Given the description of an element on the screen output the (x, y) to click on. 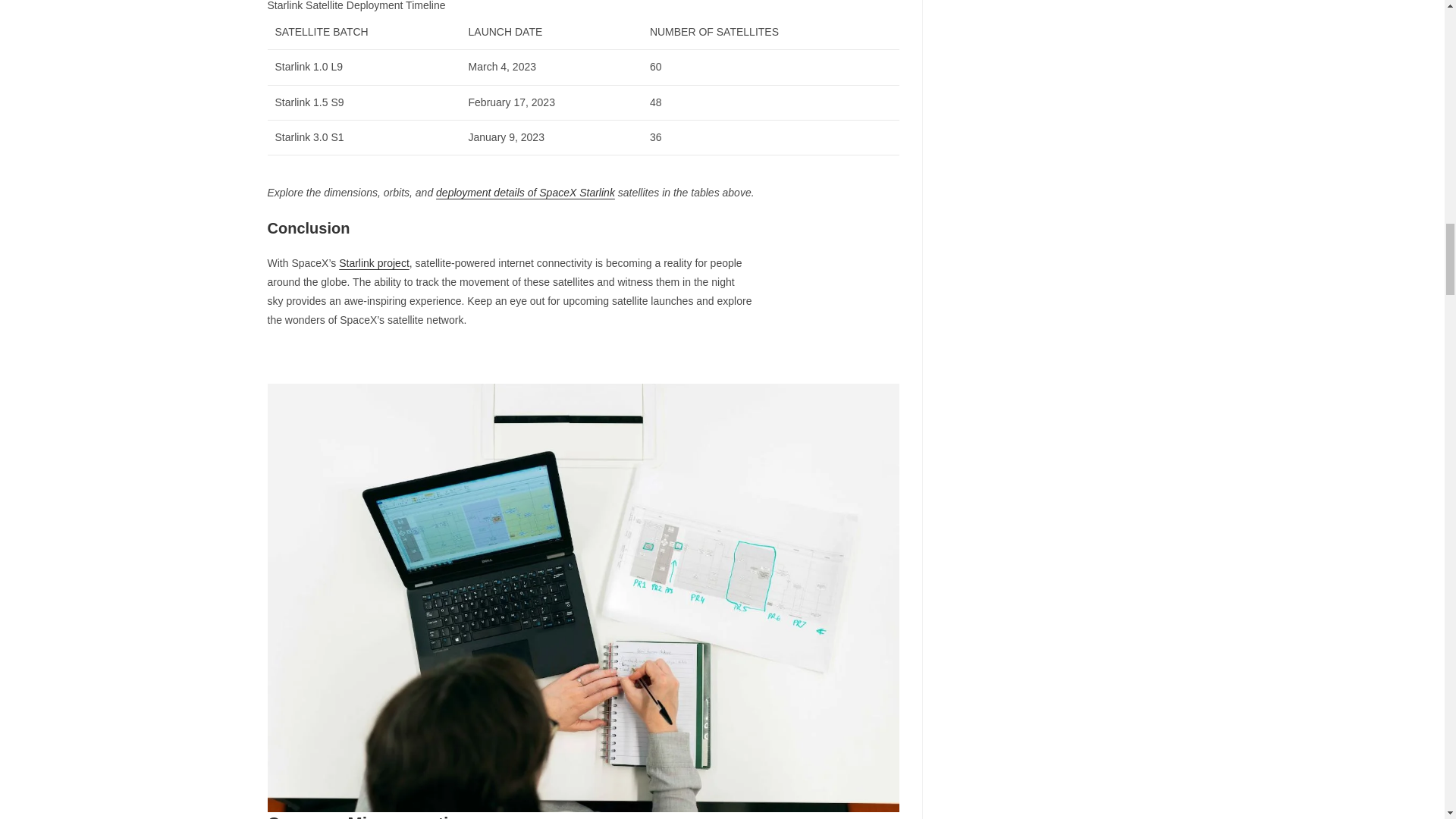
Starlink project (374, 263)
deployment details of SpaceX Starlink (524, 192)
